Given the description of an element on the screen output the (x, y) to click on. 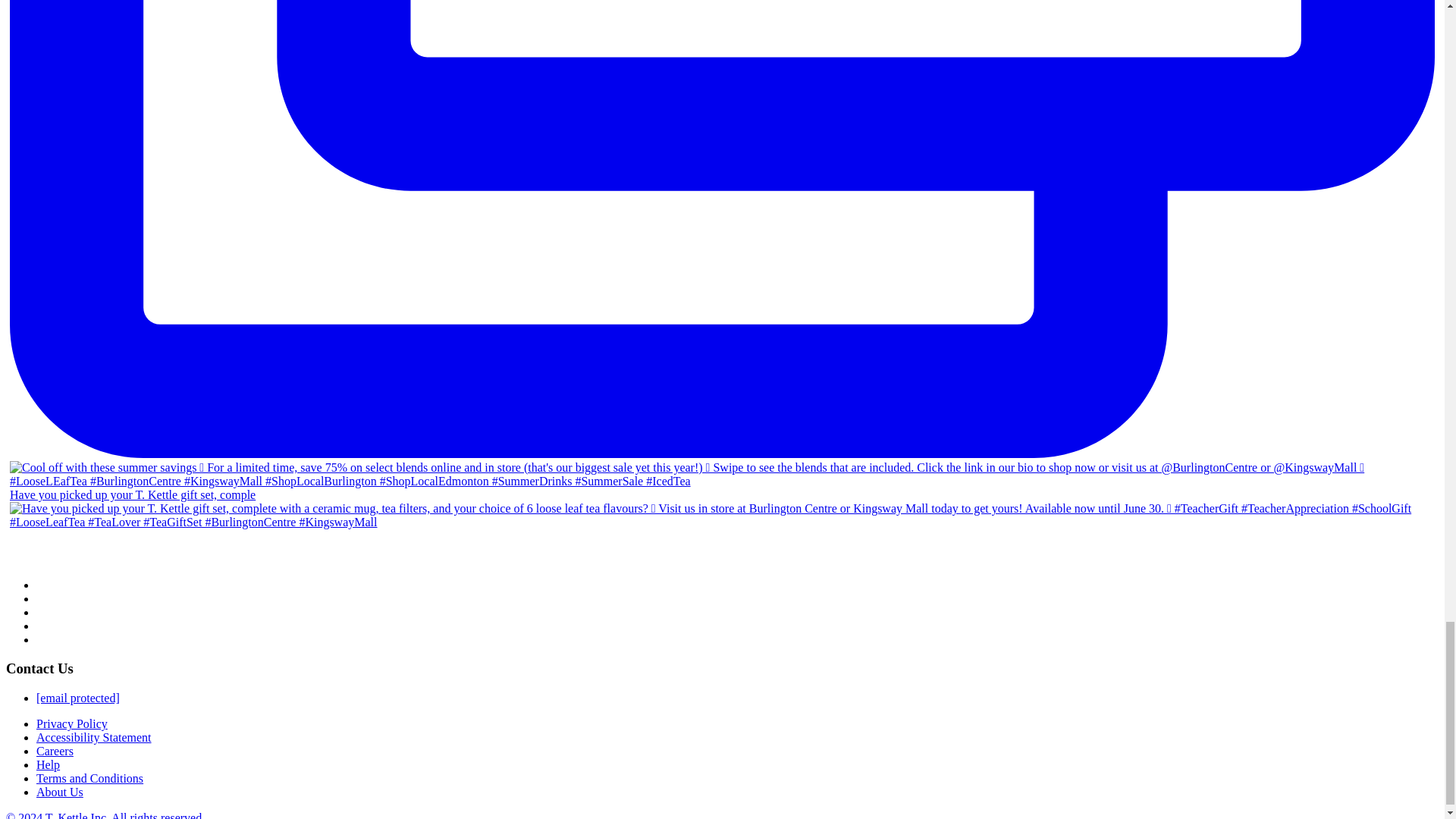
Help (47, 764)
About Us (59, 791)
Terms and Conditions (89, 778)
Careers (55, 750)
Accessibility Statement (93, 737)
Privacy Policy (71, 723)
